Given the description of an element on the screen output the (x, y) to click on. 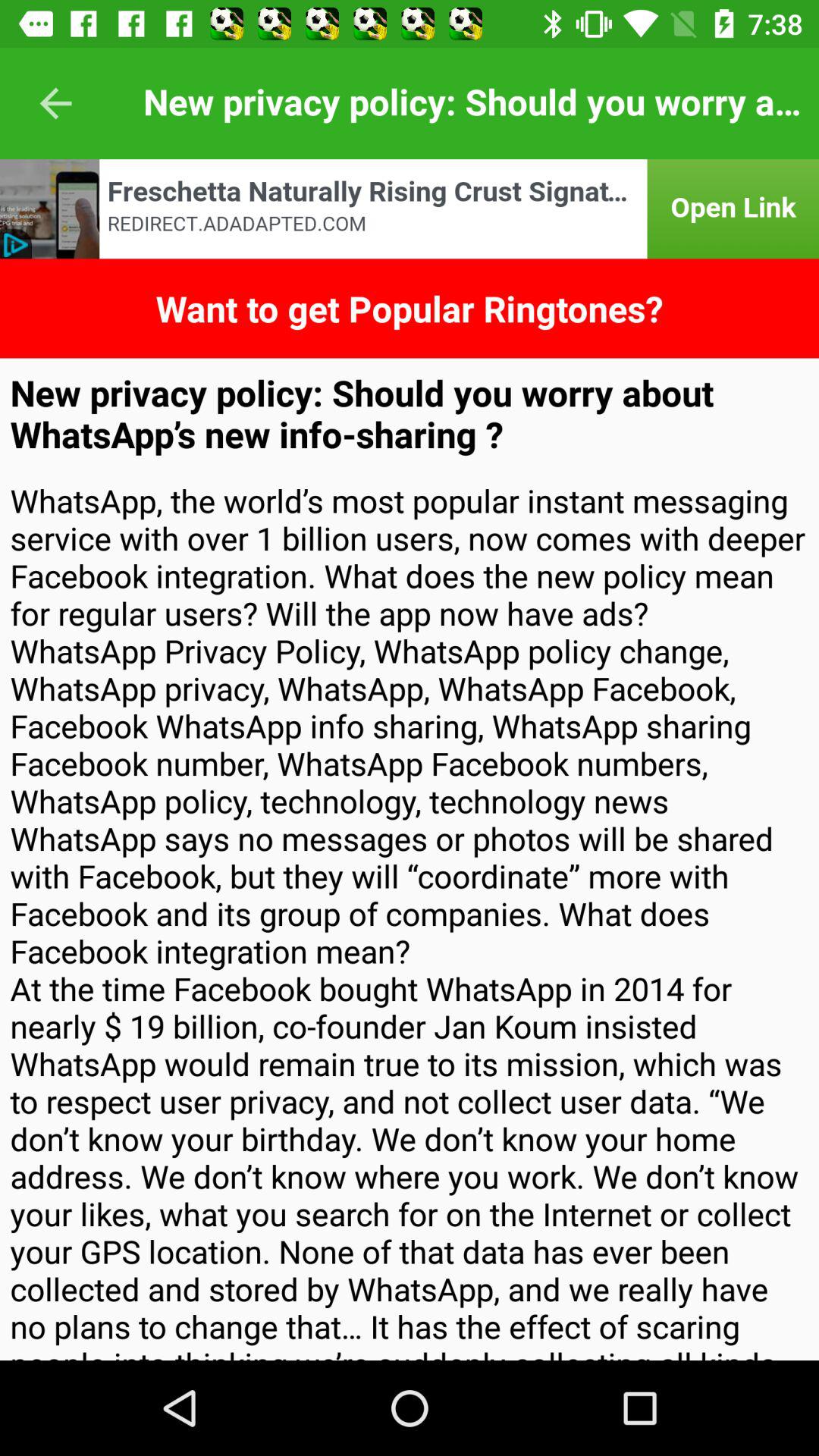
open link (409, 208)
